Given the description of an element on the screen output the (x, y) to click on. 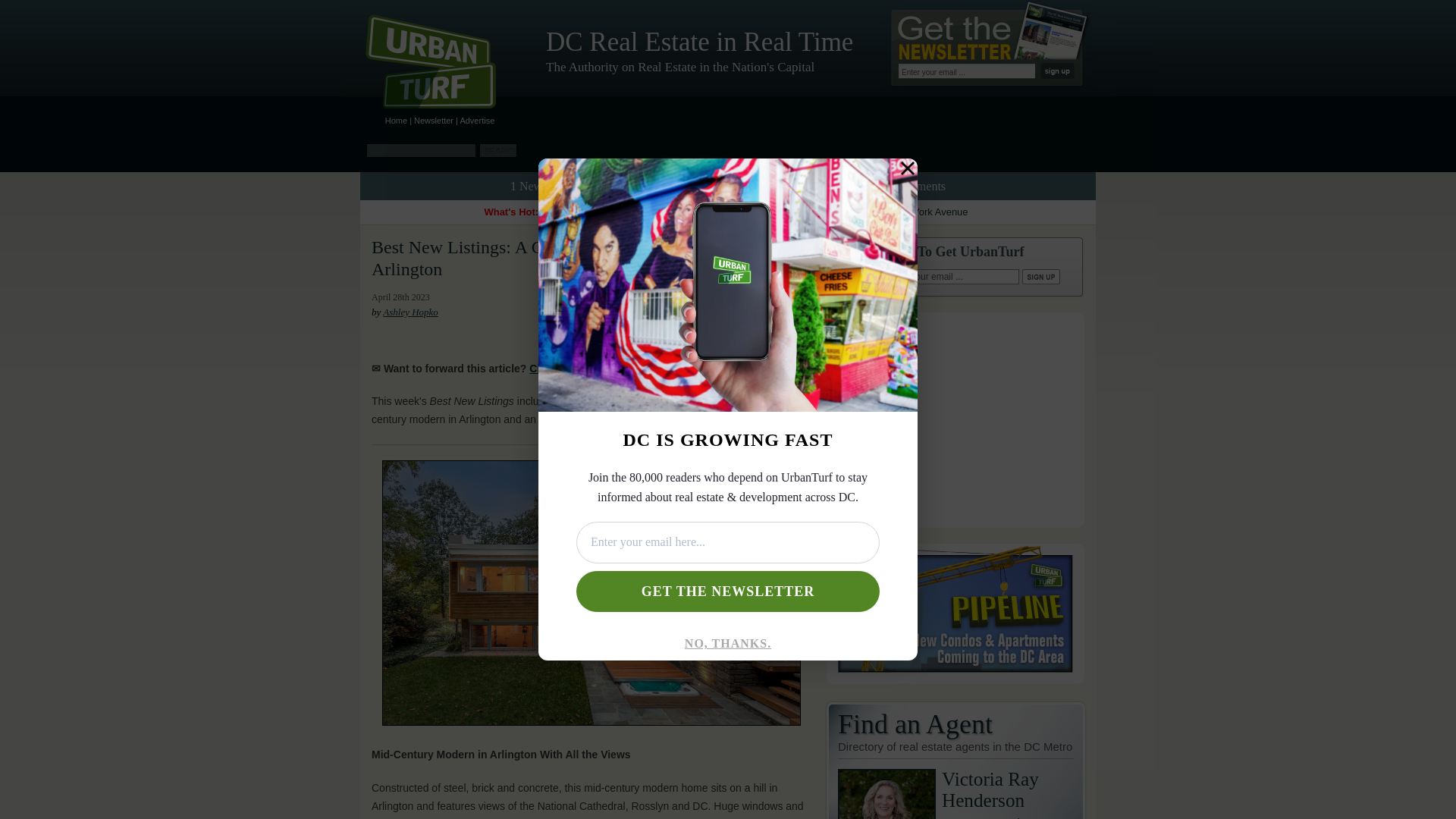
Home (396, 120)
1 New UrbanTurf Listing (572, 185)
Search (497, 150)
UrbanTurf Newsletter (432, 120)
Advertise (477, 120)
Neighborhood Profiles (722, 185)
Ashley Hopko (410, 311)
Search (497, 150)
Ashley Hopko (410, 311)
UrbanTurf Homepage (443, 64)
Enter your email ... (952, 276)
Newsletter (432, 120)
Click here (1008, 794)
